Given the description of an element on the screen output the (x, y) to click on. 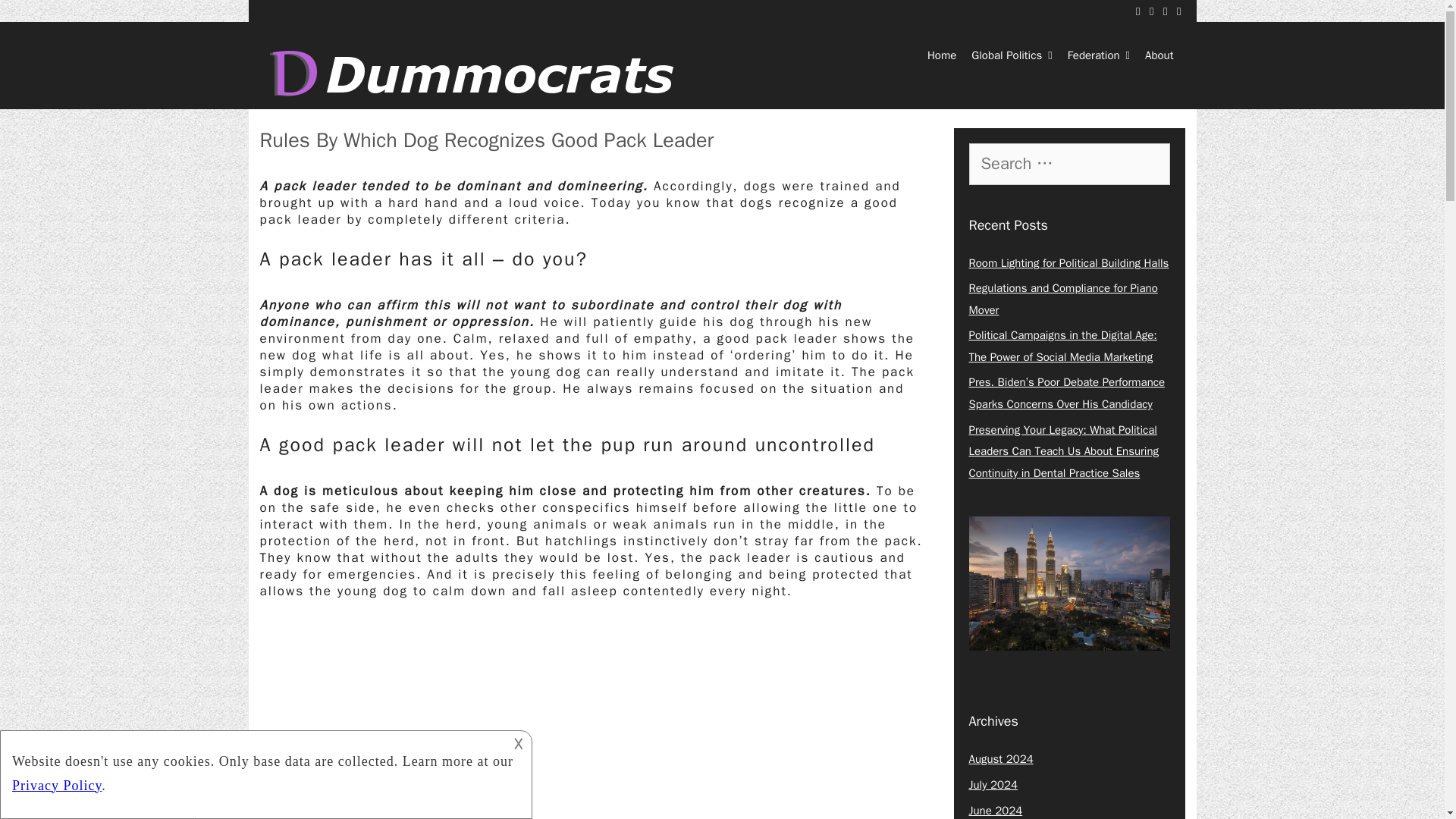
Dummocrats (477, 72)
Regulations and Compliance for Piano Mover (1063, 298)
description (264, 772)
Federation (1098, 54)
Dummocrats (477, 72)
August 2024 (1001, 758)
July 2024 (993, 784)
Global Politics (1011, 54)
